Given the description of an element on the screen output the (x, y) to click on. 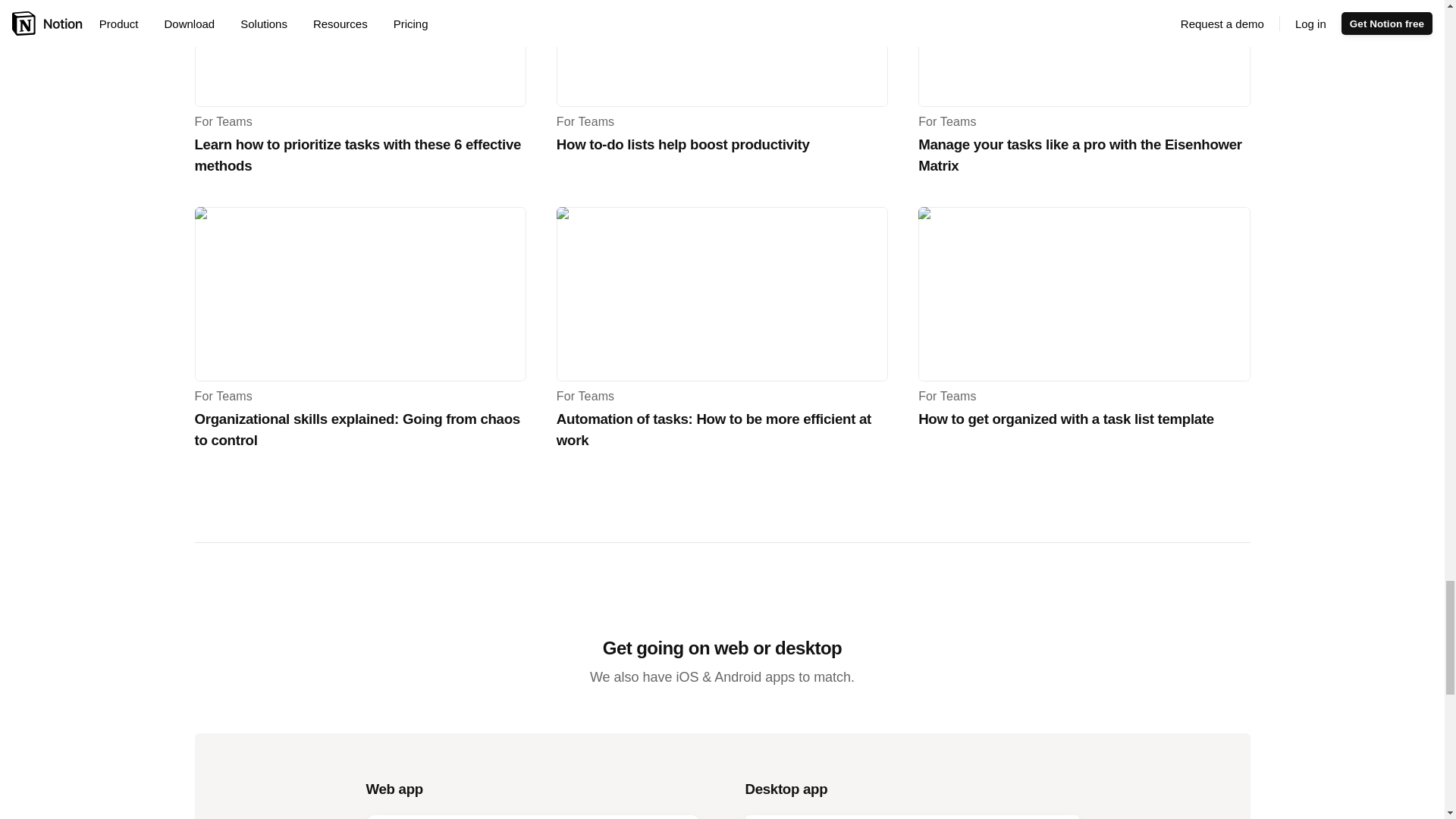
How to get organized with a task list template (1083, 294)
How to-do lists help boost productivity (722, 53)
Automation of tasks: How to be more efficient at work (722, 294)
Organizational skills explained: Going from chaos to control (359, 294)
Manage your tasks like a pro with the Eisenhower Matrix (1083, 53)
Learn how to prioritize tasks with these 6 effective methods (359, 53)
